Given the description of an element on the screen output the (x, y) to click on. 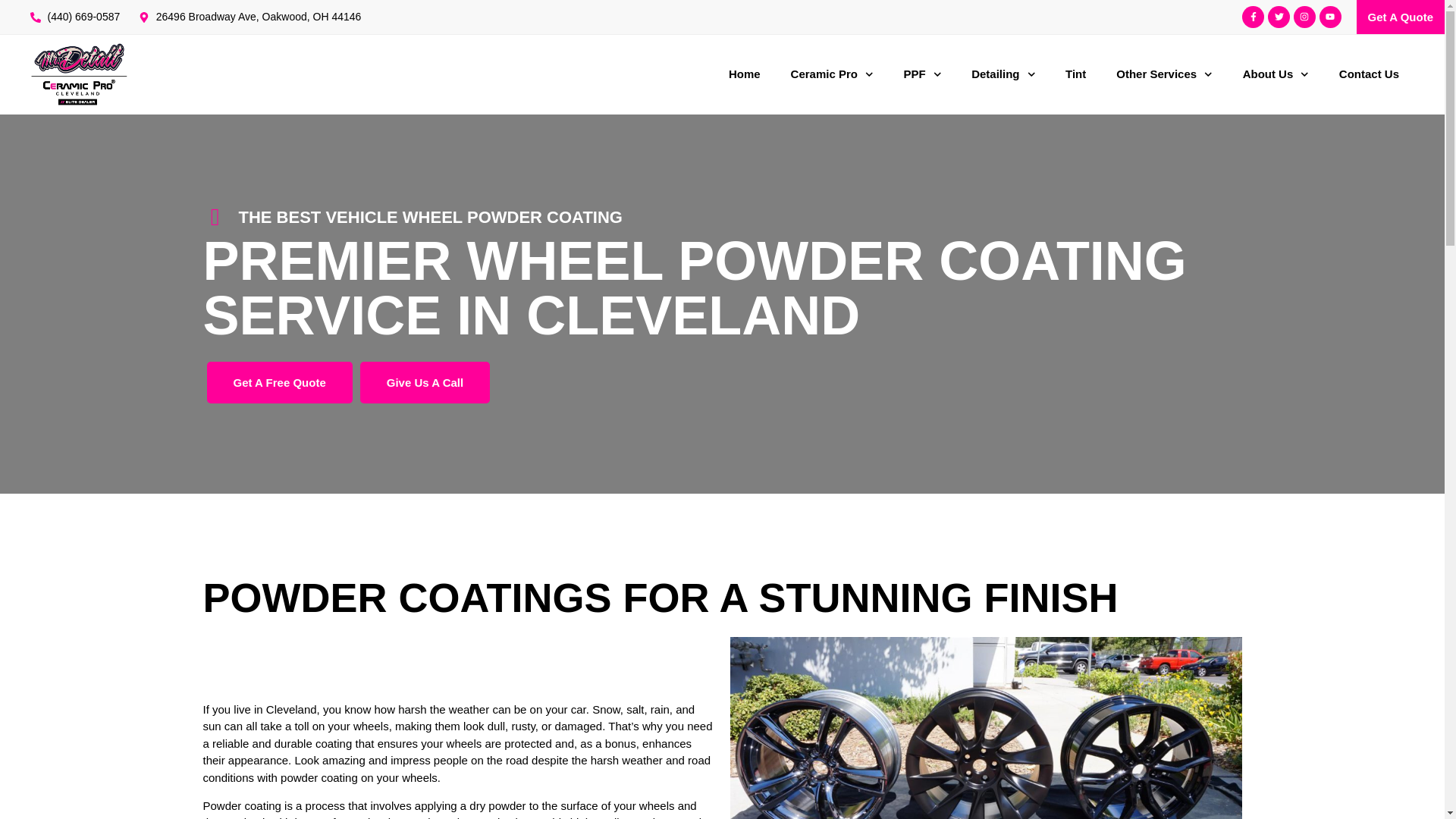
Ceramic Pro (832, 73)
Home (744, 73)
Tint (1074, 73)
PPF (922, 73)
26496 Broadway Ave, Oakwood, OH 44146 (249, 17)
Detailing (1002, 73)
About Us (1275, 73)
Other Services (1163, 73)
